Given the description of an element on the screen output the (x, y) to click on. 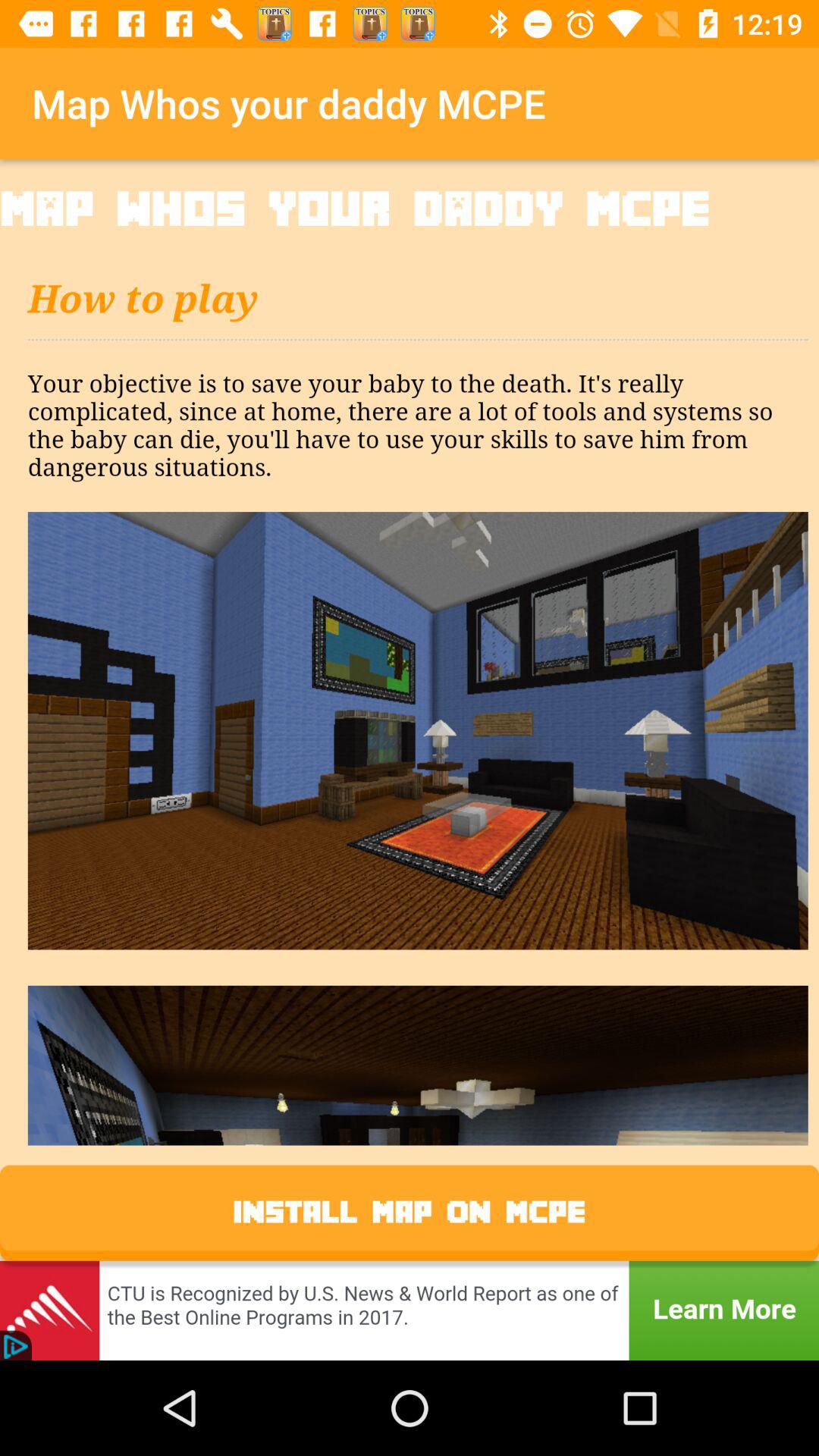
click on icon (409, 687)
